Given the description of an element on the screen output the (x, y) to click on. 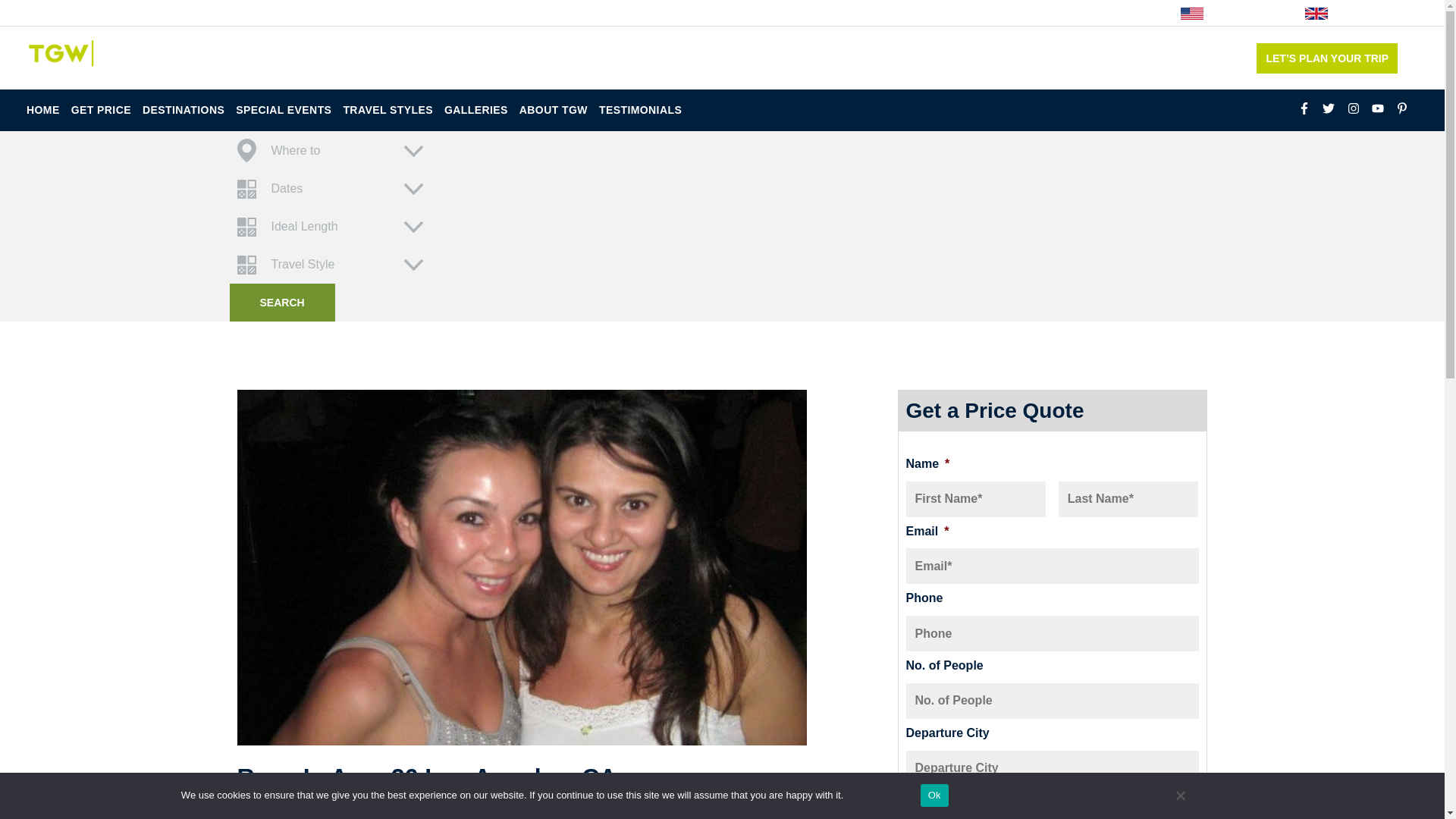
No (1180, 795)
Links (405, 12)
Free Travel Guides (560, 12)
Insurance (464, 12)
1-877-456-9453 (1189, 57)
News (266, 12)
Wild O Meter (199, 12)
SiteMap (51, 12)
Travel Blog (116, 12)
Travel Agents (335, 12)
Search (281, 302)
Contact Us (658, 12)
